Given the description of an element on the screen output the (x, y) to click on. 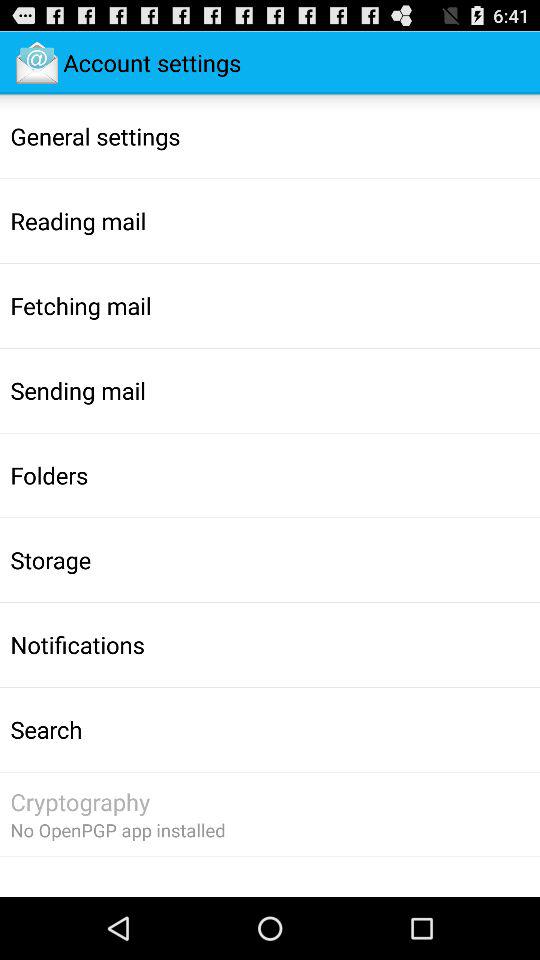
launch the no openpgp app item (117, 829)
